Given the description of an element on the screen output the (x, y) to click on. 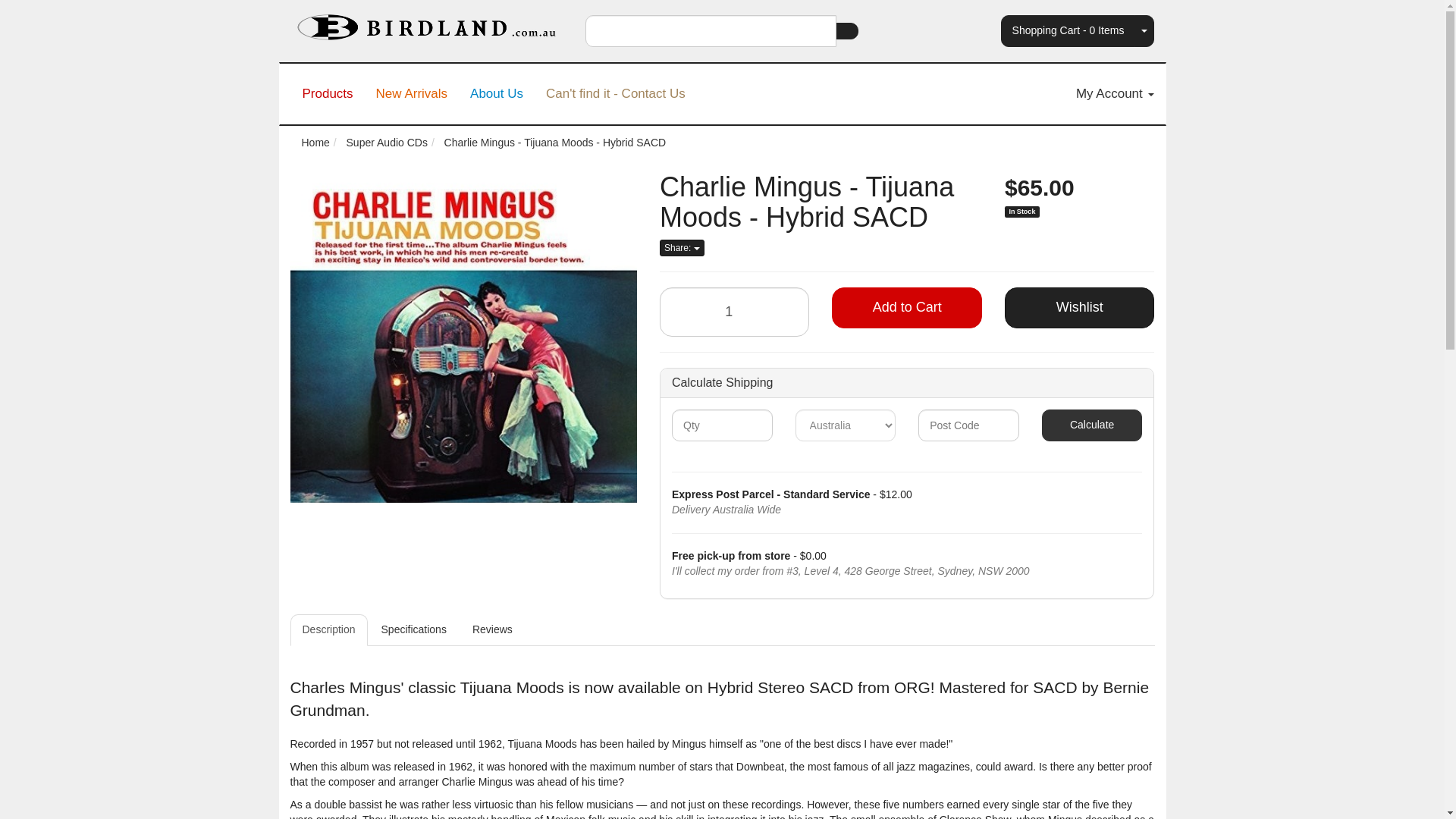
1 (734, 311)
Description (327, 630)
Super Audio CDs (387, 142)
Calculate (1092, 425)
Products (328, 93)
Charlie Mingus - Tijuana Moods - Hybrid SACD (555, 142)
Can't find it - Contact Us (615, 93)
Birdland Records (425, 22)
About Us (496, 93)
Add to Cart (906, 307)
Specifications (413, 630)
Add to Cart (906, 307)
New Arrivals (411, 93)
Search (847, 30)
Calculate (1092, 425)
